Given the description of an element on the screen output the (x, y) to click on. 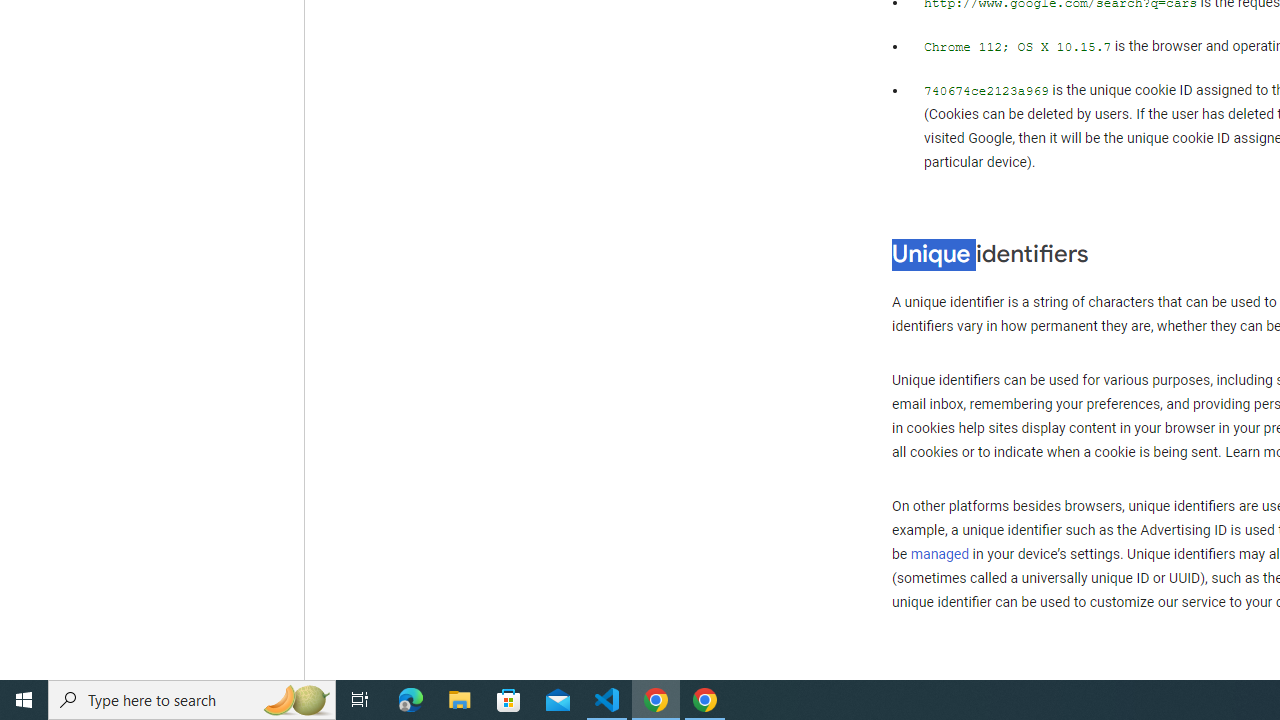
managed (940, 554)
